Given the description of an element on the screen output the (x, y) to click on. 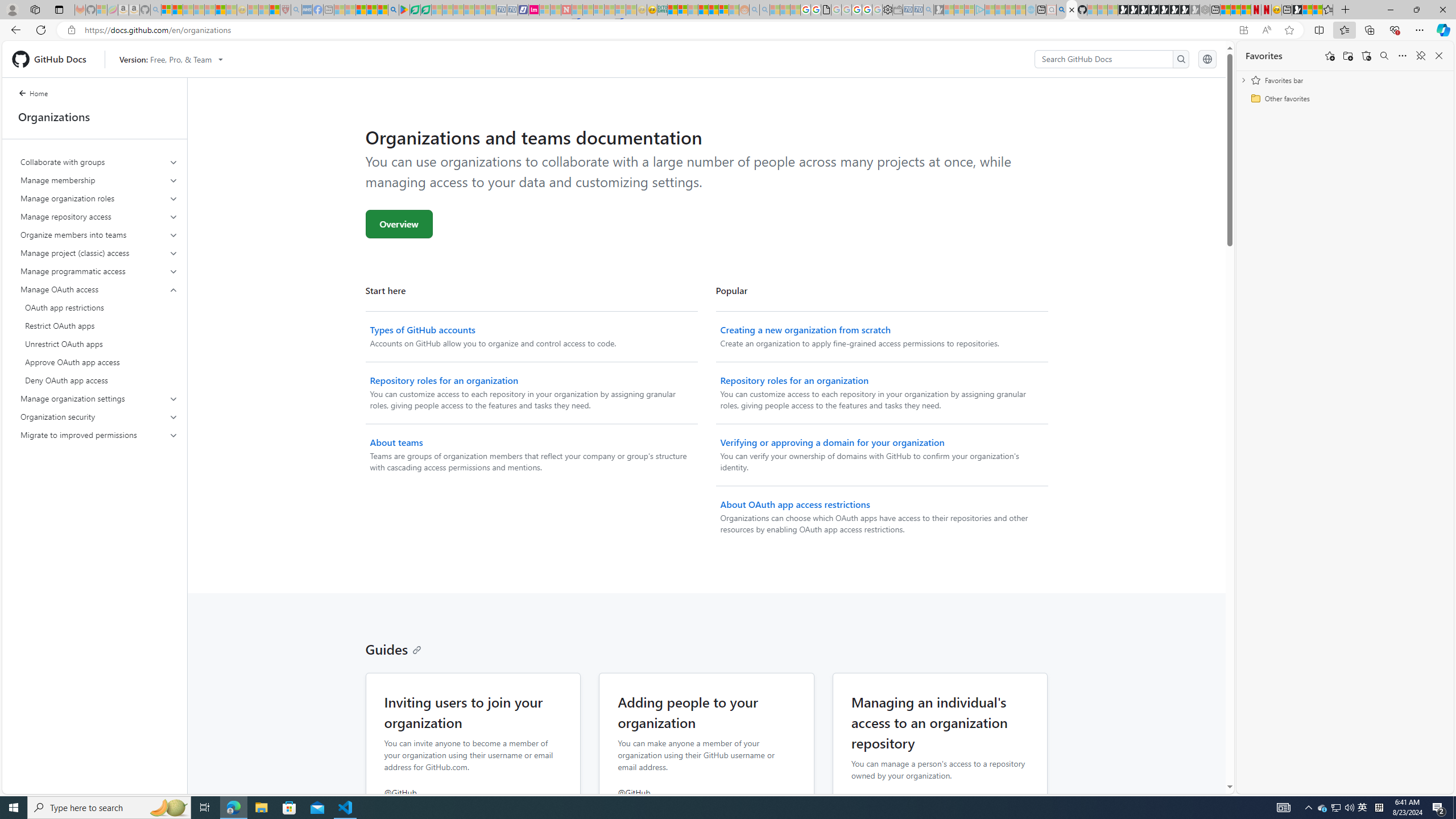
google_privacy_policy_zh-CN.pdf (825, 9)
Manage OAuth access (99, 289)
Latest Politics News & Archive | Newsweek.com - Sleeping (566, 9)
Wildlife - MSN (1307, 9)
